Given the description of an element on the screen output the (x, y) to click on. 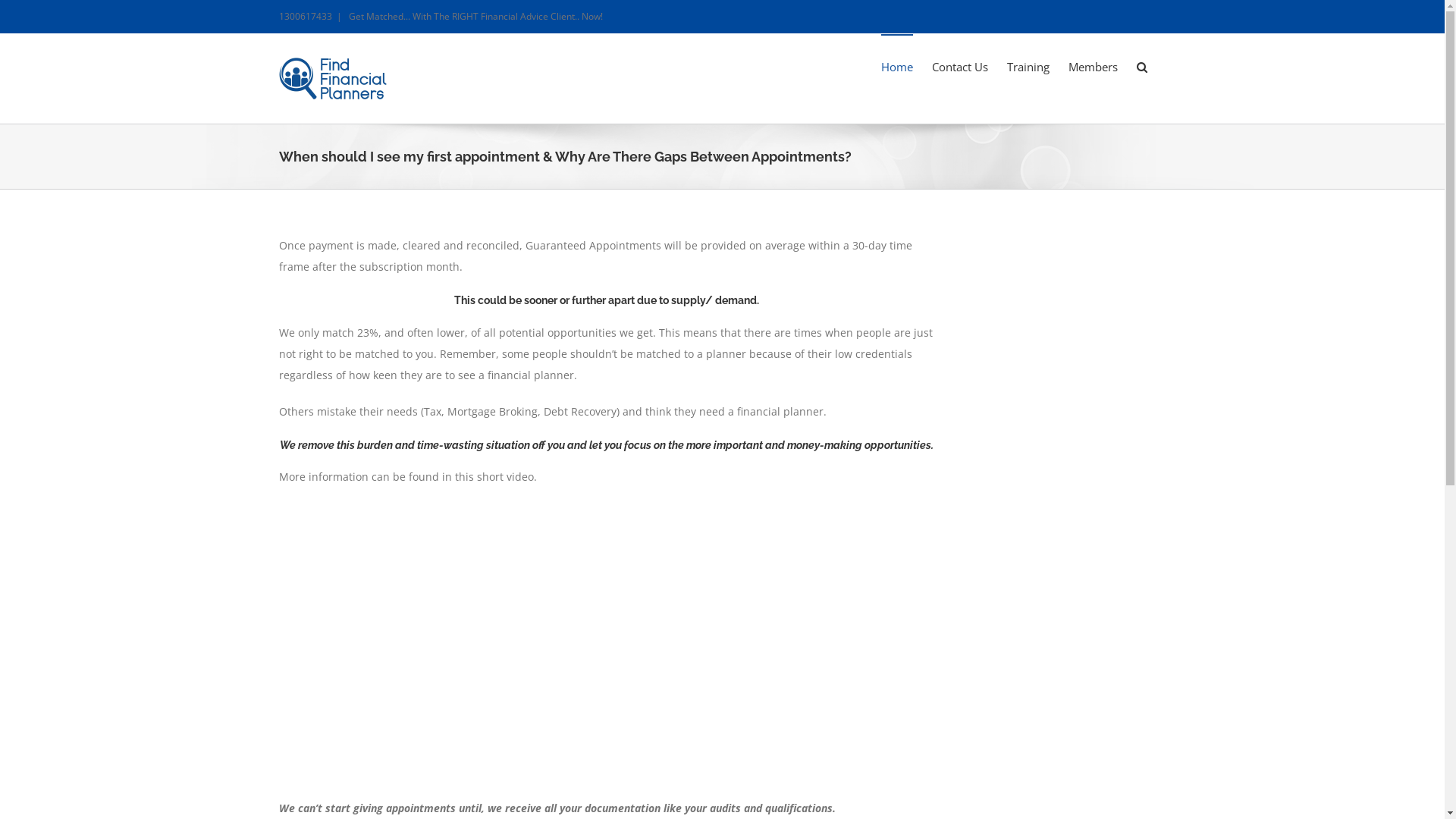
1300617433  |    Element type: text (313, 15)
Search Element type: hover (1140, 65)
Contact Us Element type: text (959, 65)
Get Matched... With The RIGHT Financial Advice Client.. Now! Element type: text (475, 15)
Members Element type: text (1092, 65)
Training Element type: text (1028, 65)
Home Element type: text (897, 65)
